Given the description of an element on the screen output the (x, y) to click on. 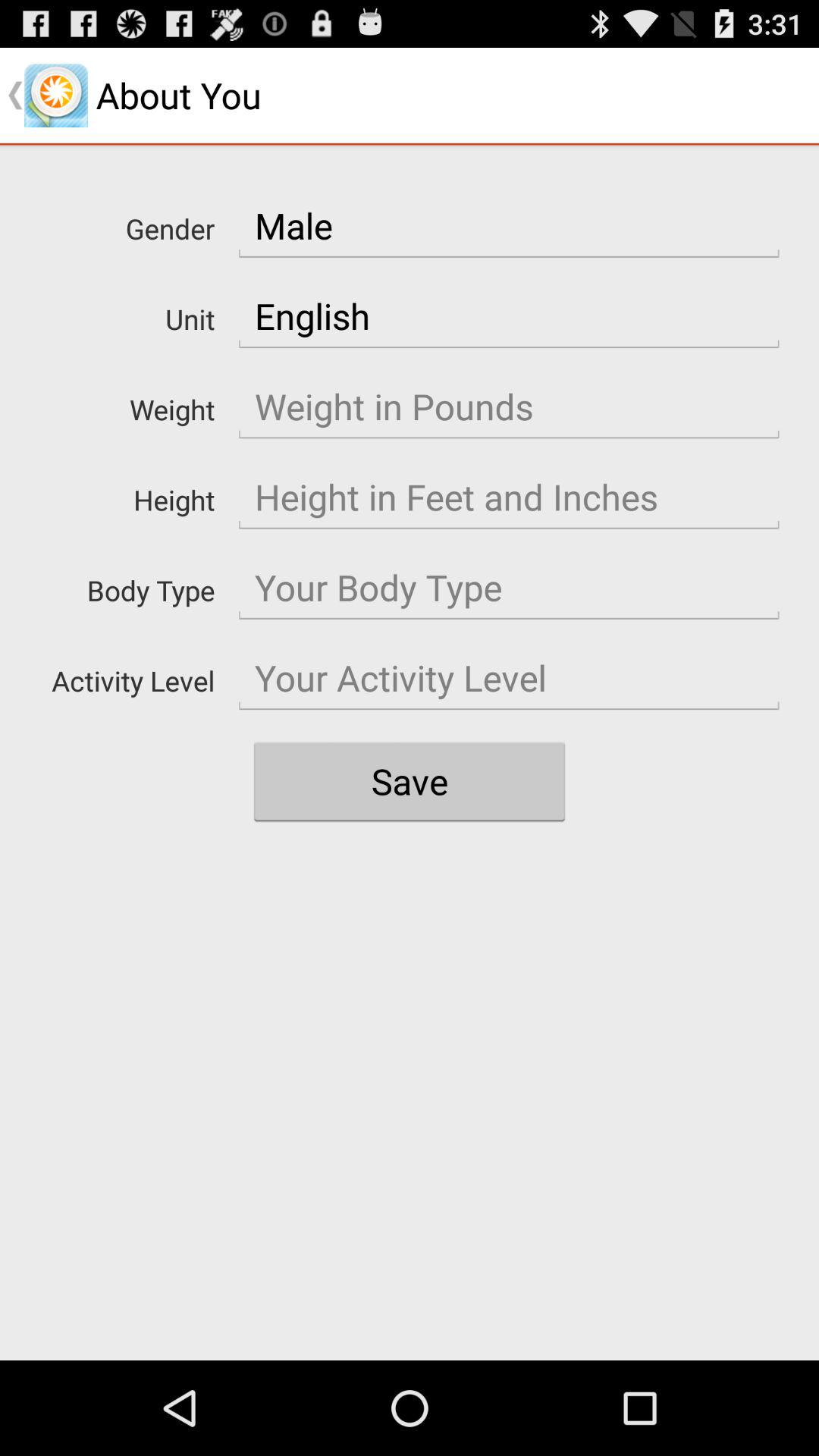
body type entry (508, 587)
